Given the description of an element on the screen output the (x, y) to click on. 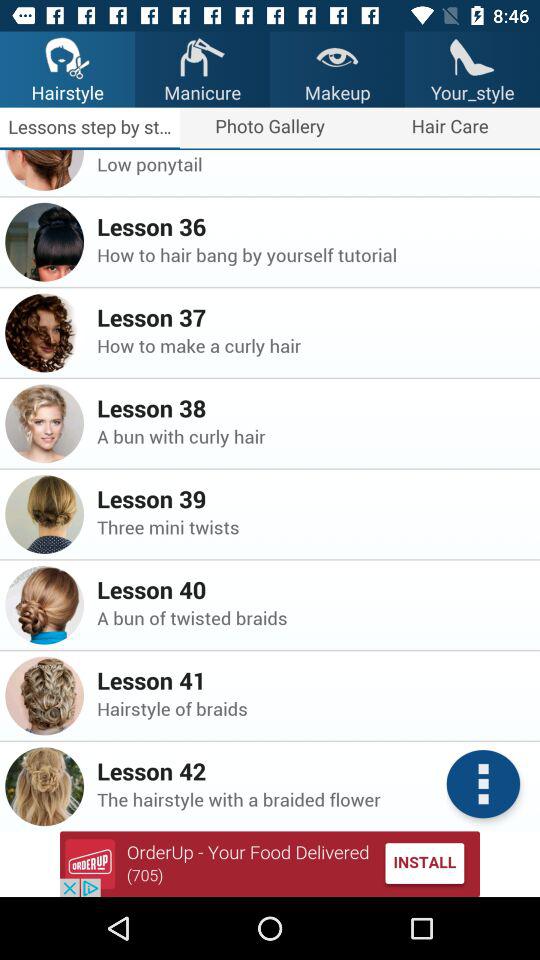
scroll to lesson 40 item (311, 589)
